Given the description of an element on the screen output the (x, y) to click on. 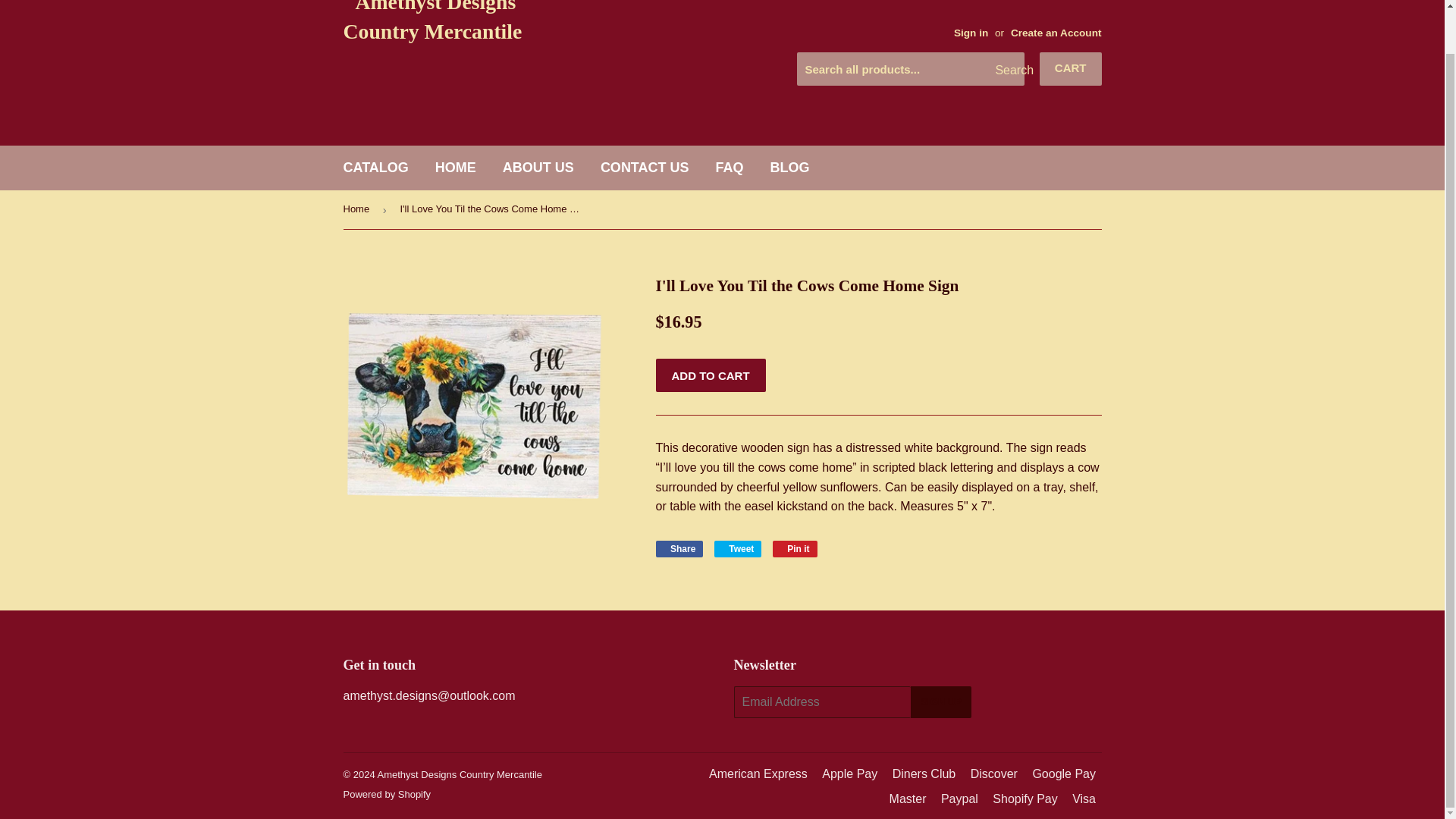
CATALOG (375, 167)
ADD TO CART (679, 548)
Pin on Pinterest (710, 375)
Amethyst Designs Country Mercantile (794, 548)
CART (794, 548)
CONTACT US (459, 774)
Share on Facebook (737, 548)
